Given the description of an element on the screen output the (x, y) to click on. 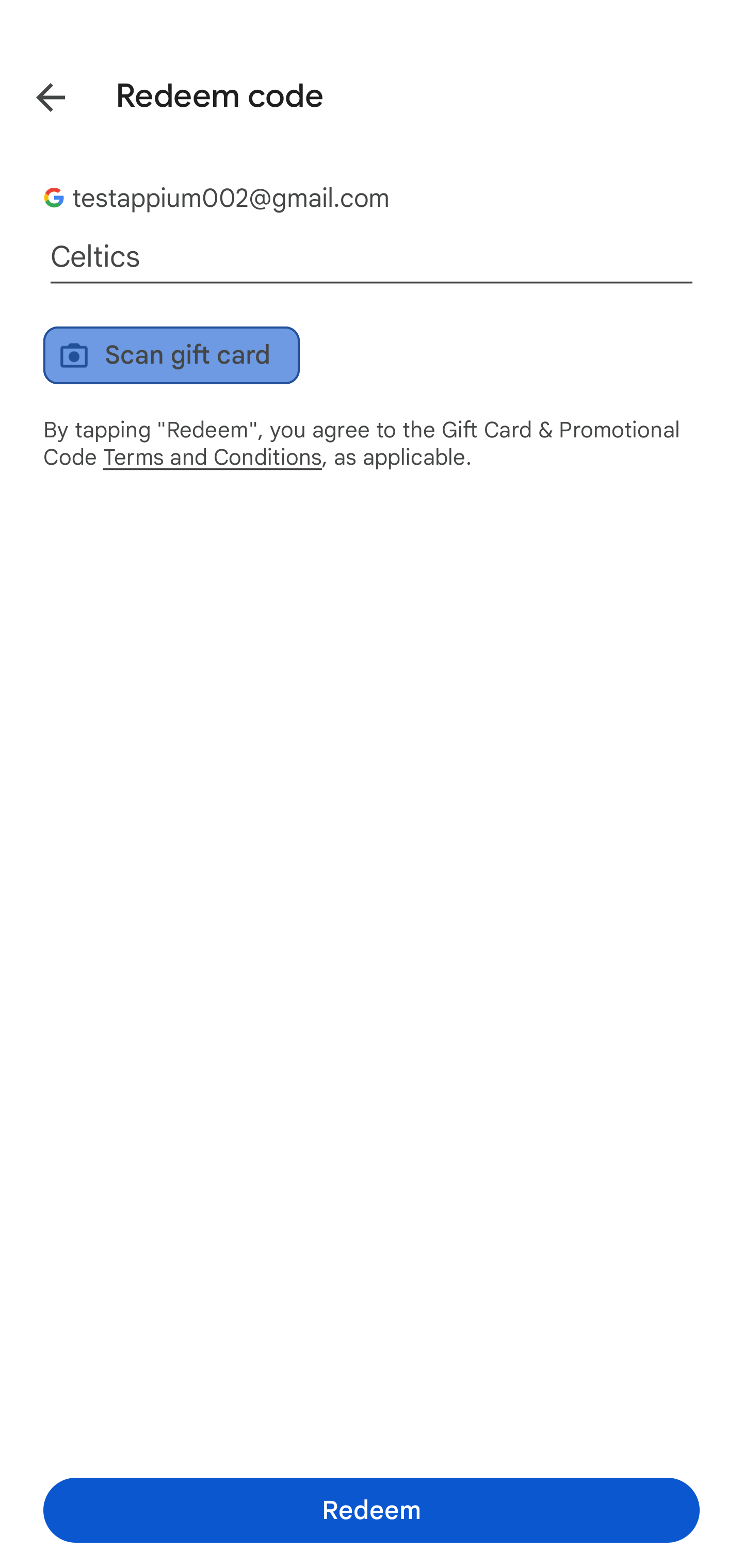
Back (36, 94)
Celtics (371, 256)
Scan gift card (171, 355)
Redeem (371, 1509)
